Given the description of an element on the screen output the (x, y) to click on. 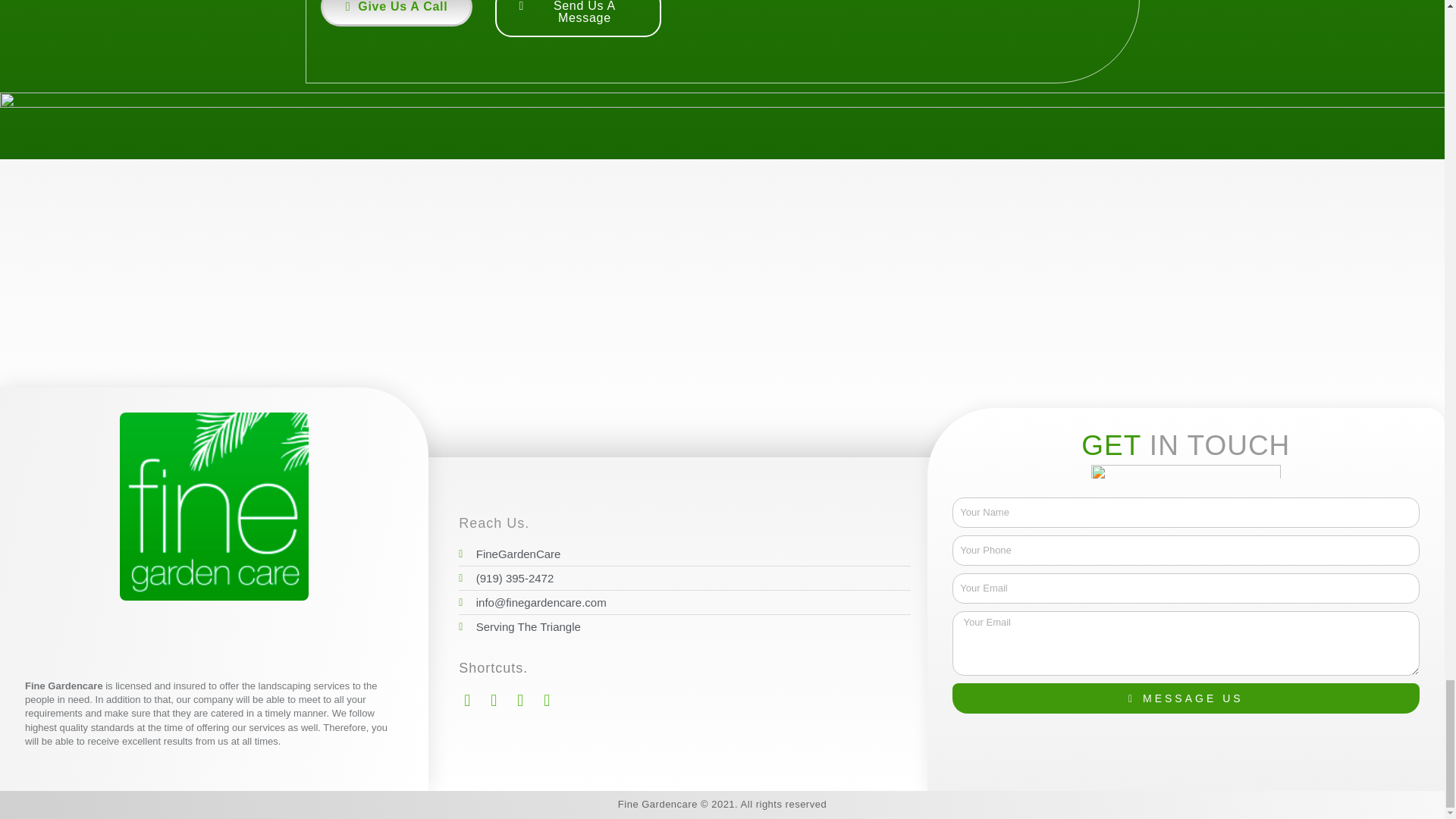
Send Us A Message (578, 18)
Give Us A Call (396, 13)
FineGardenCare (684, 554)
